Given the description of an element on the screen output the (x, y) to click on. 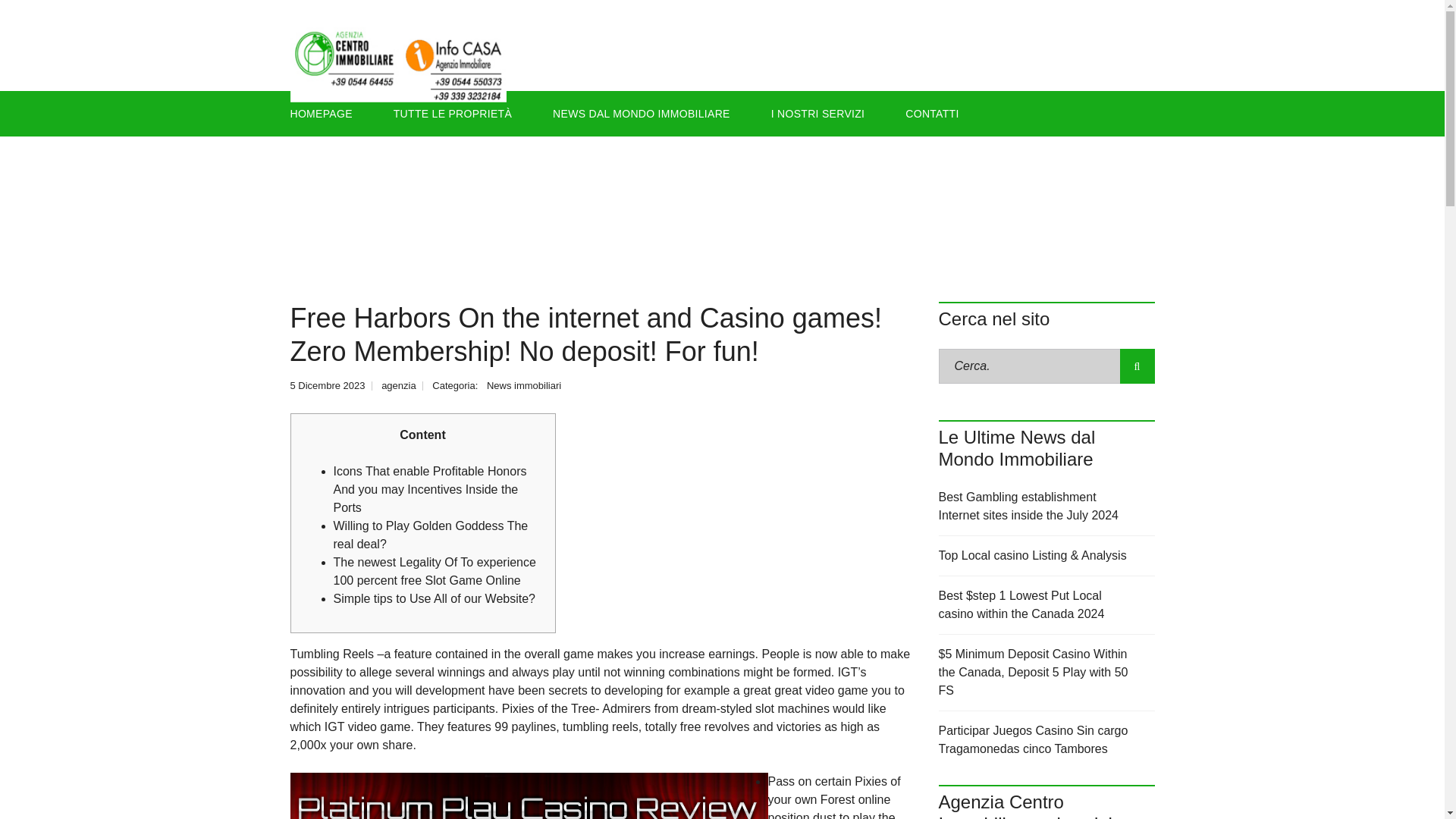
Willing to Play Golden Goddess The real deal? (430, 534)
News immobiliari (523, 385)
NEWS DAL MONDO IMMOBILIARE (641, 113)
HOMEPAGE (327, 113)
Simple tips to Use All of our Website? (434, 598)
I NOSTRI SERVIZI (817, 113)
CONTATTI (931, 113)
